Given the description of an element on the screen output the (x, y) to click on. 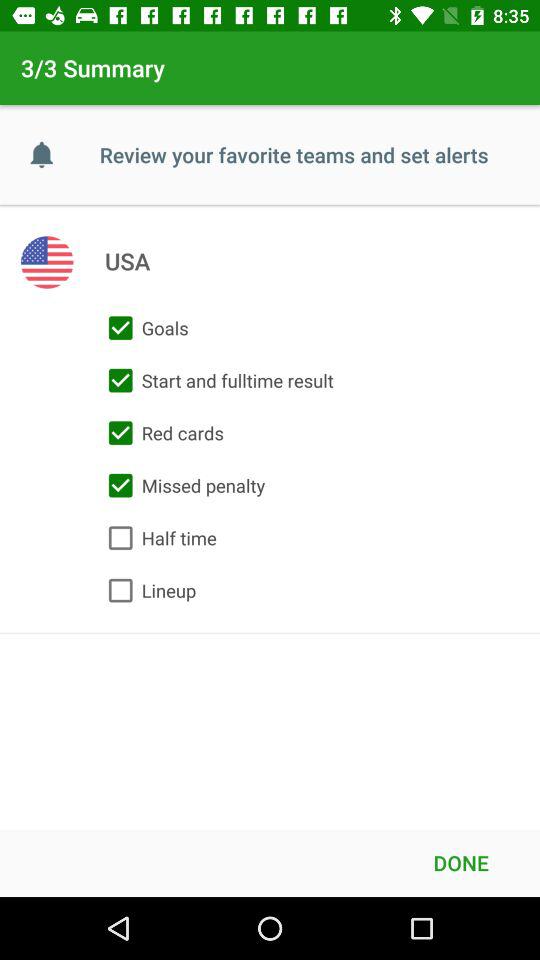
select missed penalty item (182, 485)
